Given the description of an element on the screen output the (x, y) to click on. 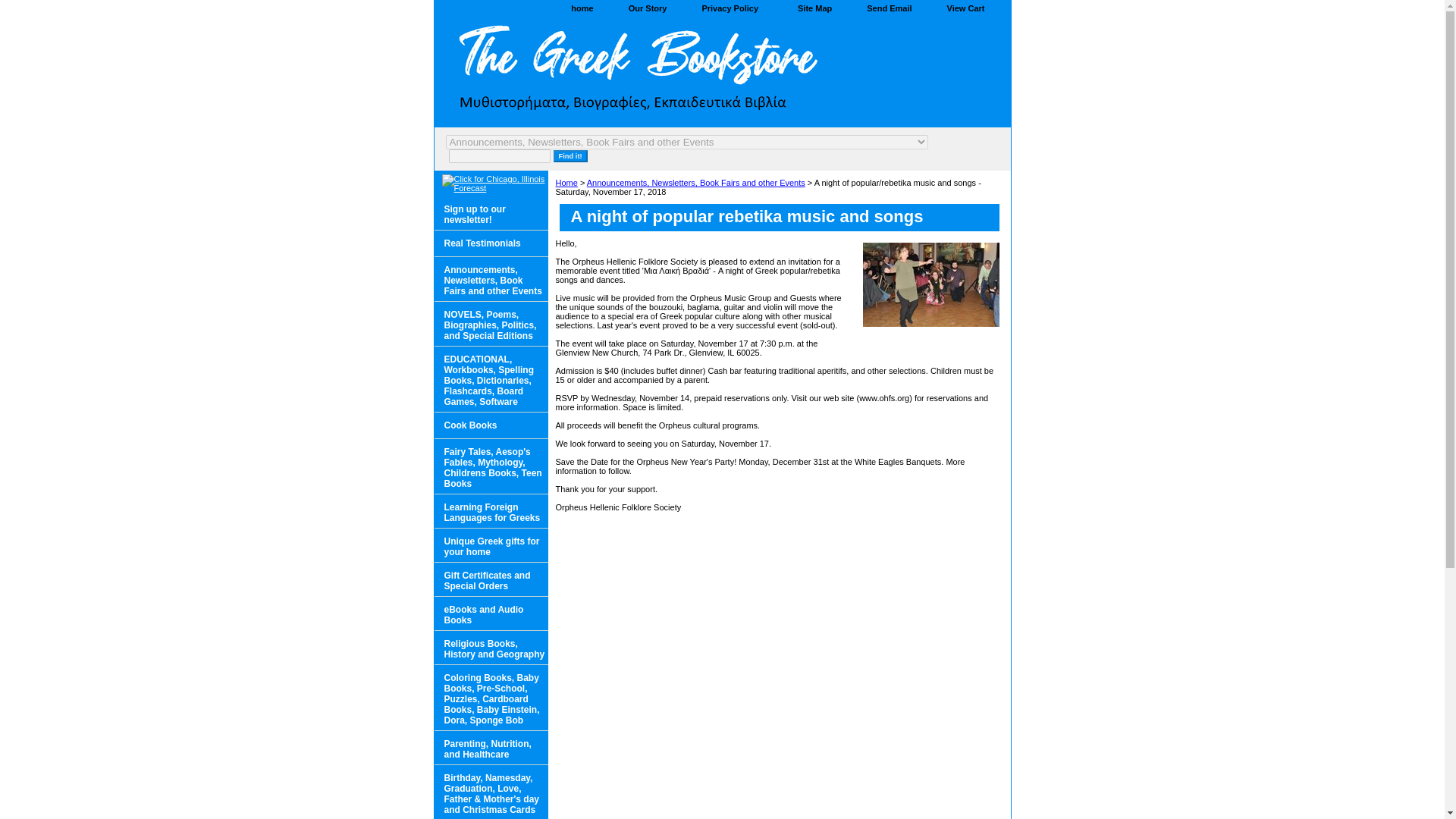
NOVELS, Poems, Biographies, Politics, and Special Editions (490, 324)
Real Testimonials (490, 243)
Cook Books (490, 425)
Parenting, Nutrition, and Healthcare (490, 747)
The Greek Bookstore (622, 72)
Sign up to our newsletter! (490, 213)
eBooks and Audio Books (490, 613)
Find it! (570, 155)
Home (565, 182)
Announcements, Newsletters, Book Fairs and other Events (695, 182)
Religious Books, History and Geography (490, 647)
home (582, 8)
Gift Certificates and Special Orders (490, 579)
